Given the description of an element on the screen output the (x, y) to click on. 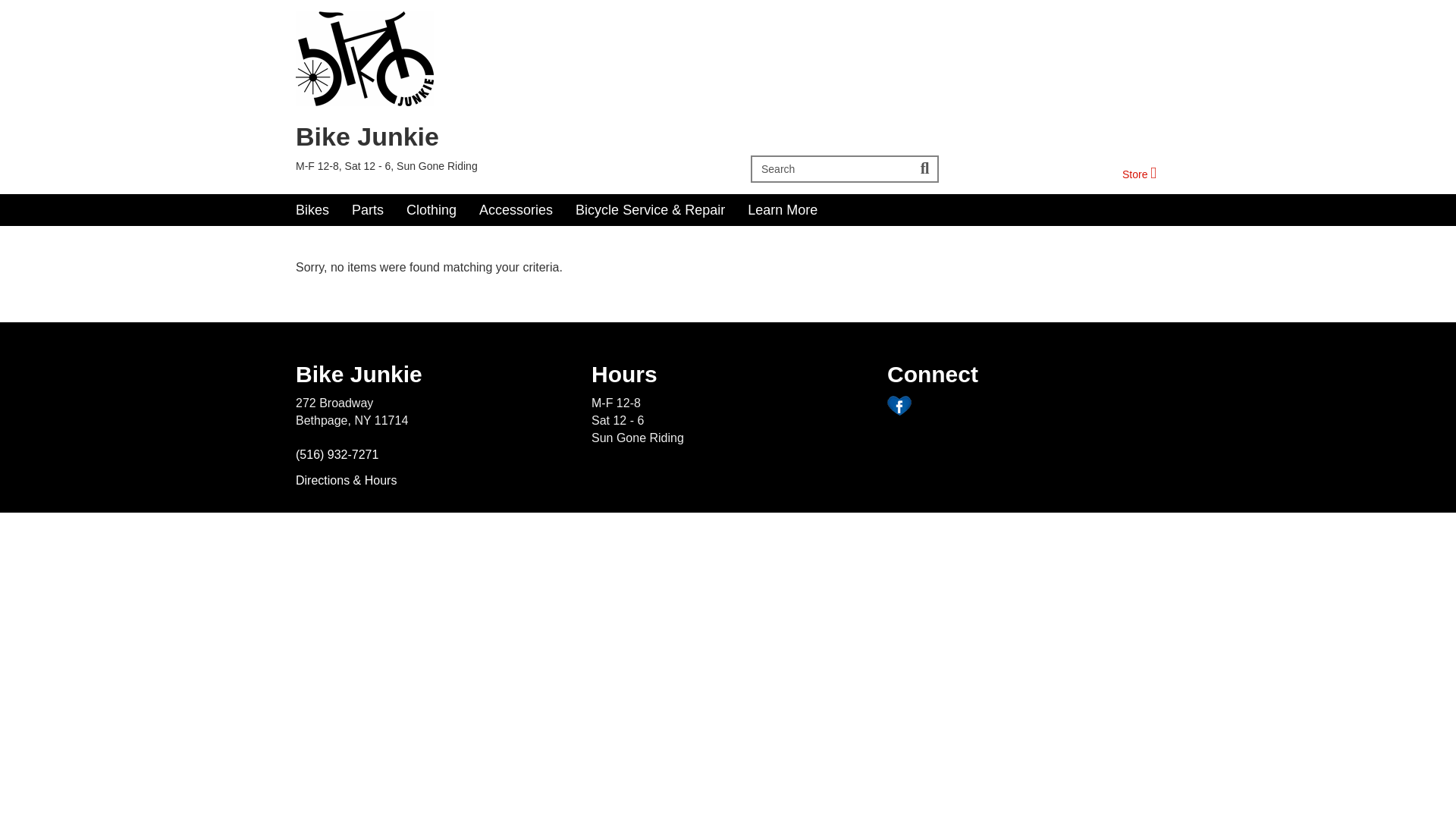
Bike Junkie Home Page (505, 58)
Search (1139, 174)
Search (925, 168)
Parts (832, 168)
Bikes (367, 209)
Store (311, 209)
